Given the description of an element on the screen output the (x, y) to click on. 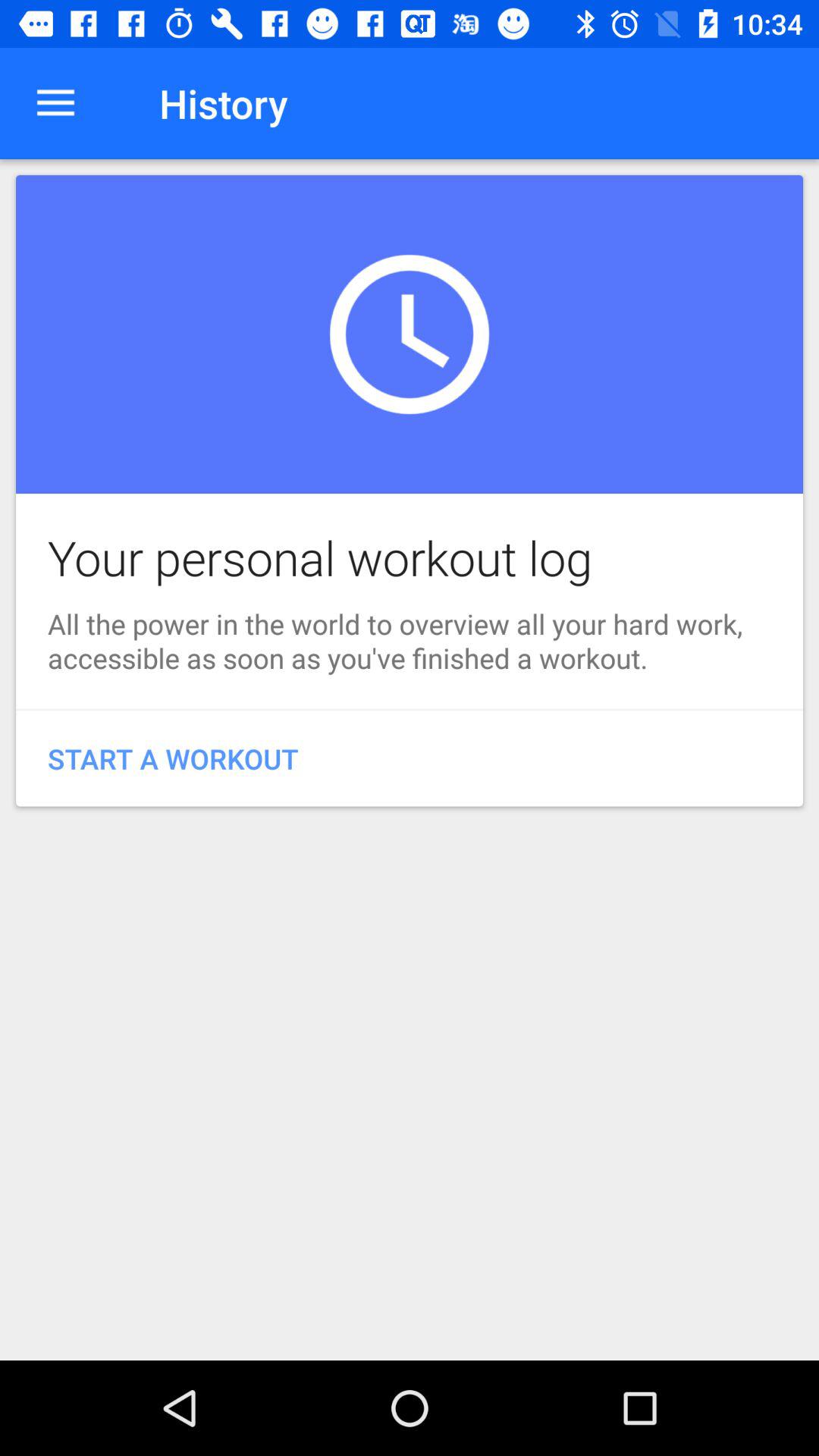
press the icon next to the history (55, 103)
